Given the description of an element on the screen output the (x, y) to click on. 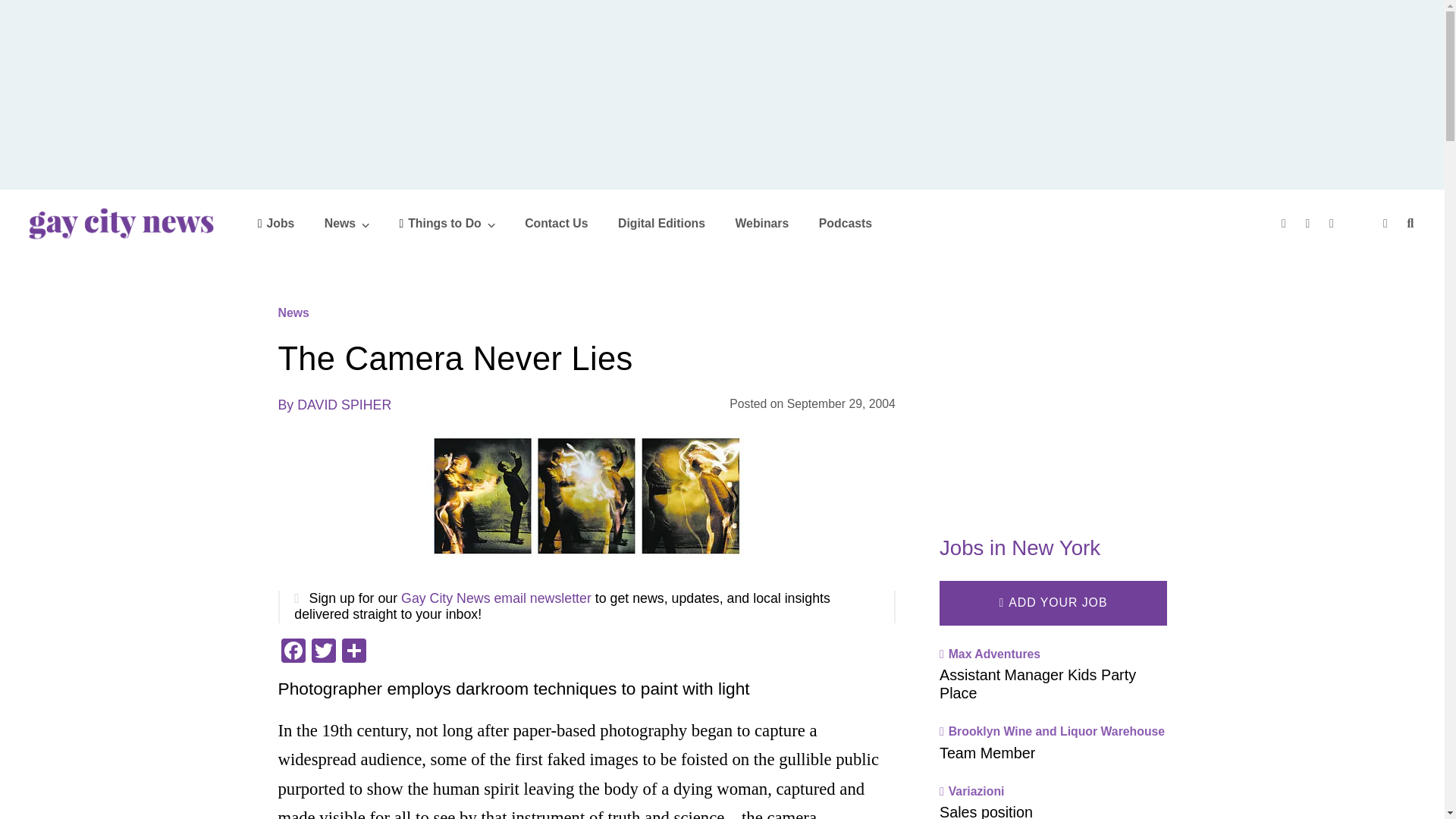
Webinars (762, 223)
Podcasts (845, 223)
Facebook (292, 652)
Things to Do (446, 223)
Twitter (322, 652)
Jobs (276, 223)
Contact Us (556, 223)
Digital Editions (660, 223)
News (346, 223)
